Given the description of an element on the screen output the (x, y) to click on. 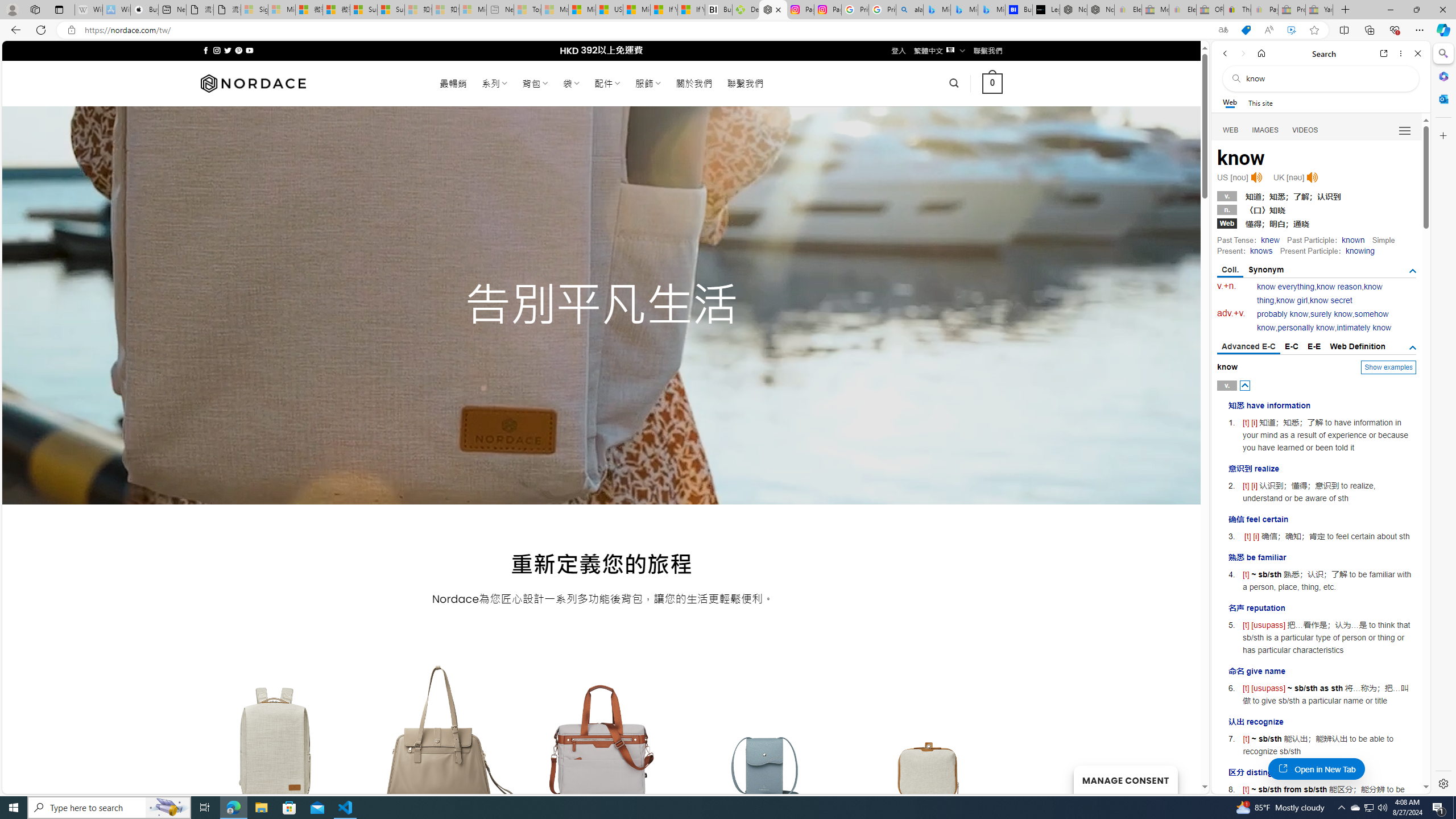
know reason (1339, 286)
  0   (992, 83)
personally know (1305, 327)
Coll. (1230, 270)
Class: b_serphb (1404, 130)
Microsoft account | Account Checkup - Sleeping (473, 9)
knew (1269, 239)
Follow on Twitter (227, 50)
MANAGE CONSENT (1125, 779)
Threats and offensive language policy | eBay (1236, 9)
